Given the description of an element on the screen output the (x, y) to click on. 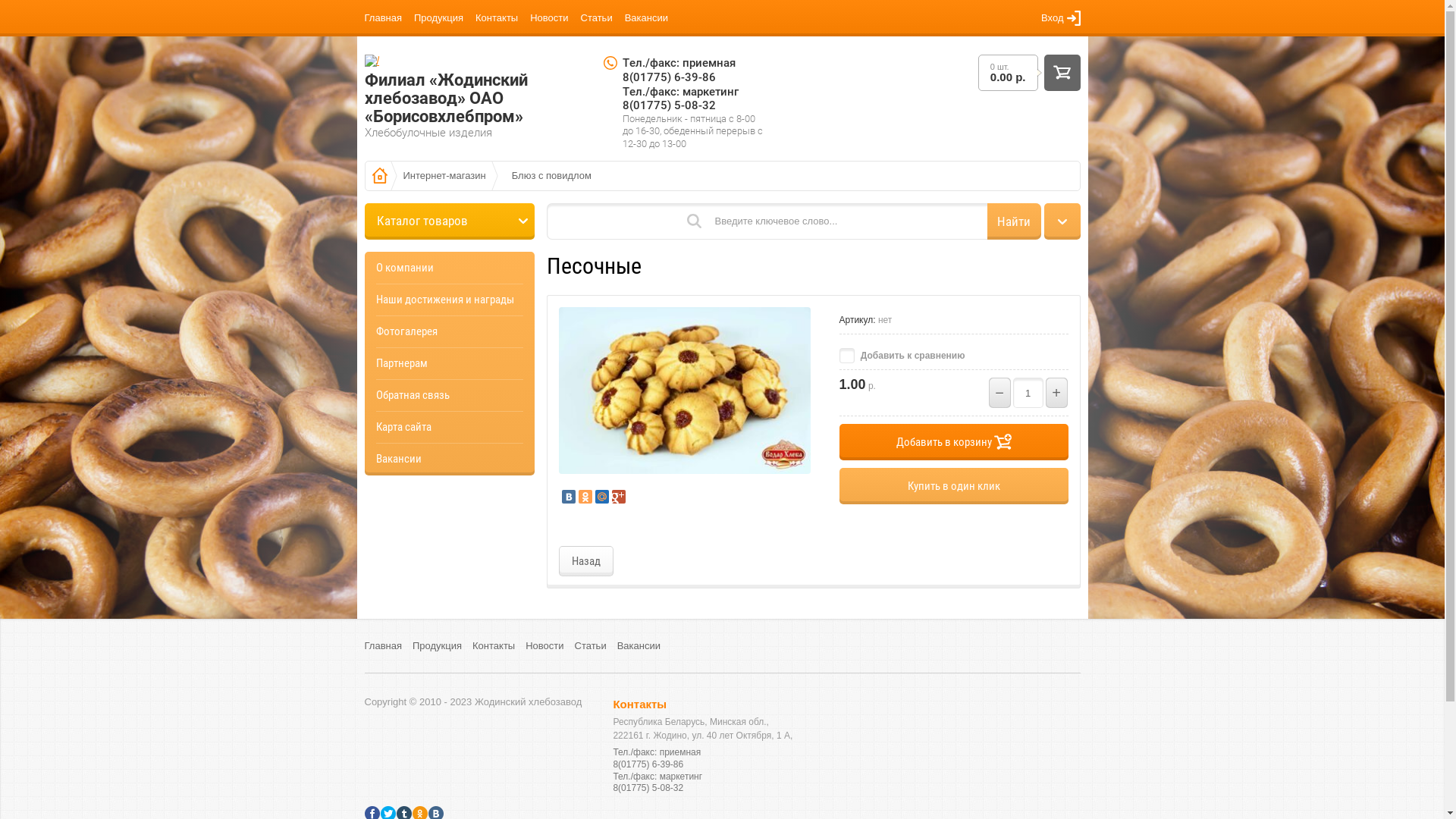
Google Plus Element type: hover (617, 496)
8(01775) 5-08-32 Element type: text (647, 787)
8(01775) 6-39-86 Element type: text (668, 77)
+ Element type: text (1055, 392)
8(01775) 6-39-86 Element type: text (647, 764)
8(01775) 5-08-32 Element type: text (668, 105)
